Given the description of an element on the screen output the (x, y) to click on. 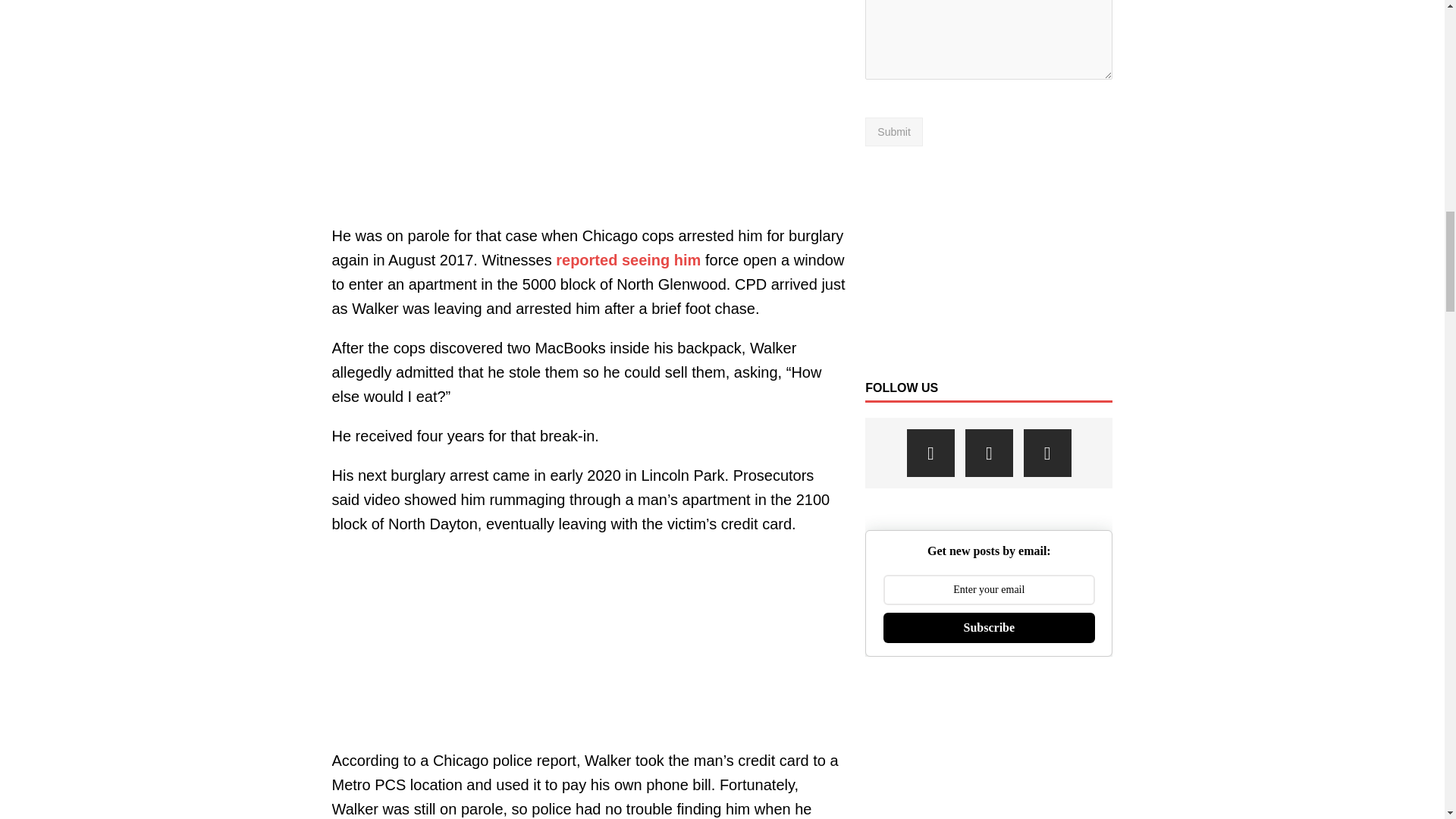
Subscribe (988, 627)
Submit (893, 131)
reported seeing him (628, 259)
